Given the description of an element on the screen output the (x, y) to click on. 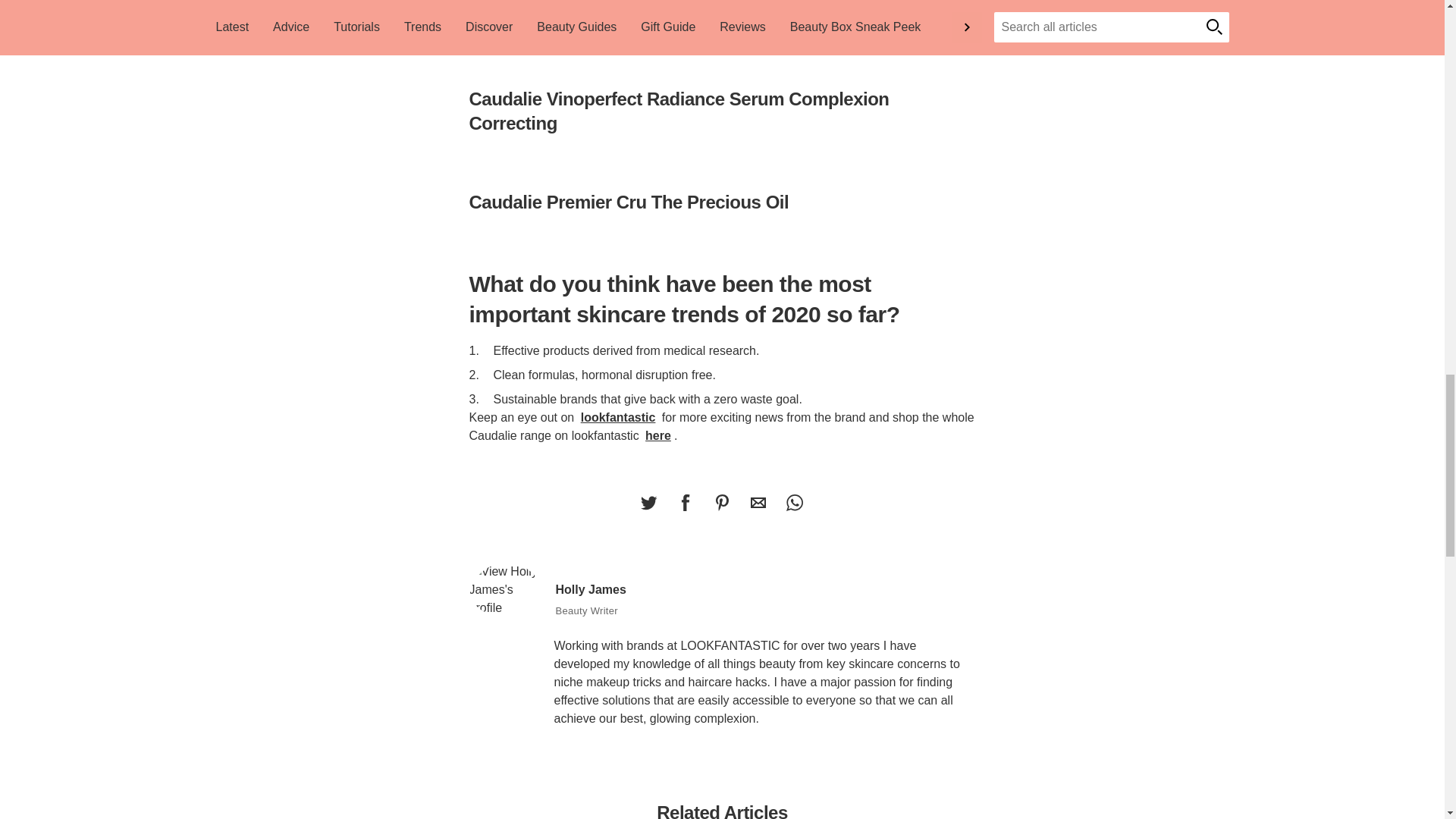
Share this on Twitter (648, 502)
Share this by Email (757, 502)
Share this on WhatsApp (793, 502)
Share this on Facebook (684, 502)
Share this on Pinterest (721, 502)
Holly James (505, 589)
